Given the description of an element on the screen output the (x, y) to click on. 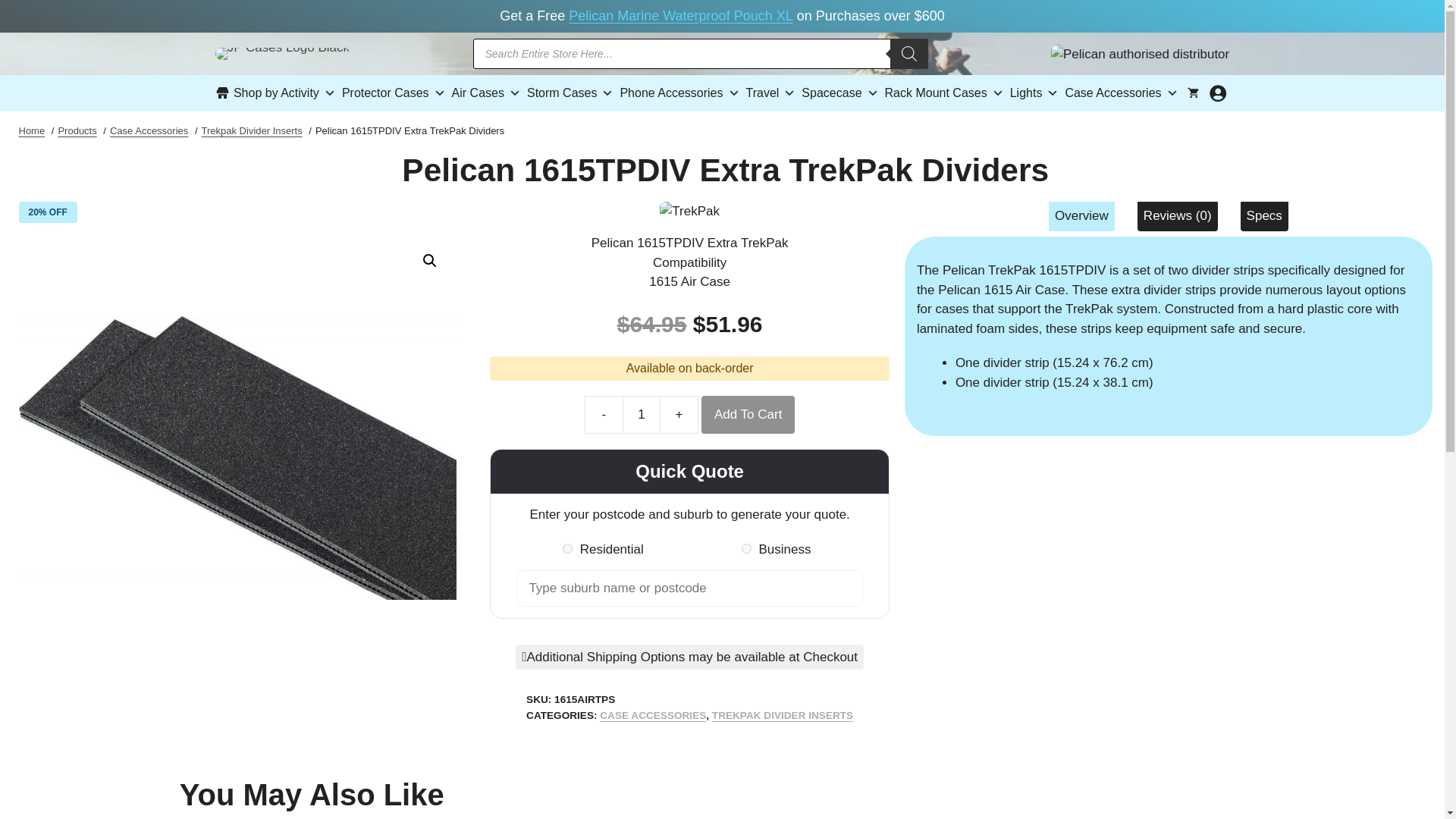
Pelican-authorised-distributor (1139, 54)
1 (642, 414)
Protector Cases (393, 93)
0 (746, 548)
1 (567, 548)
Pelican Marine Waterproof Pouch XL (680, 15)
Shop by Activity (276, 93)
